Given the description of an element on the screen output the (x, y) to click on. 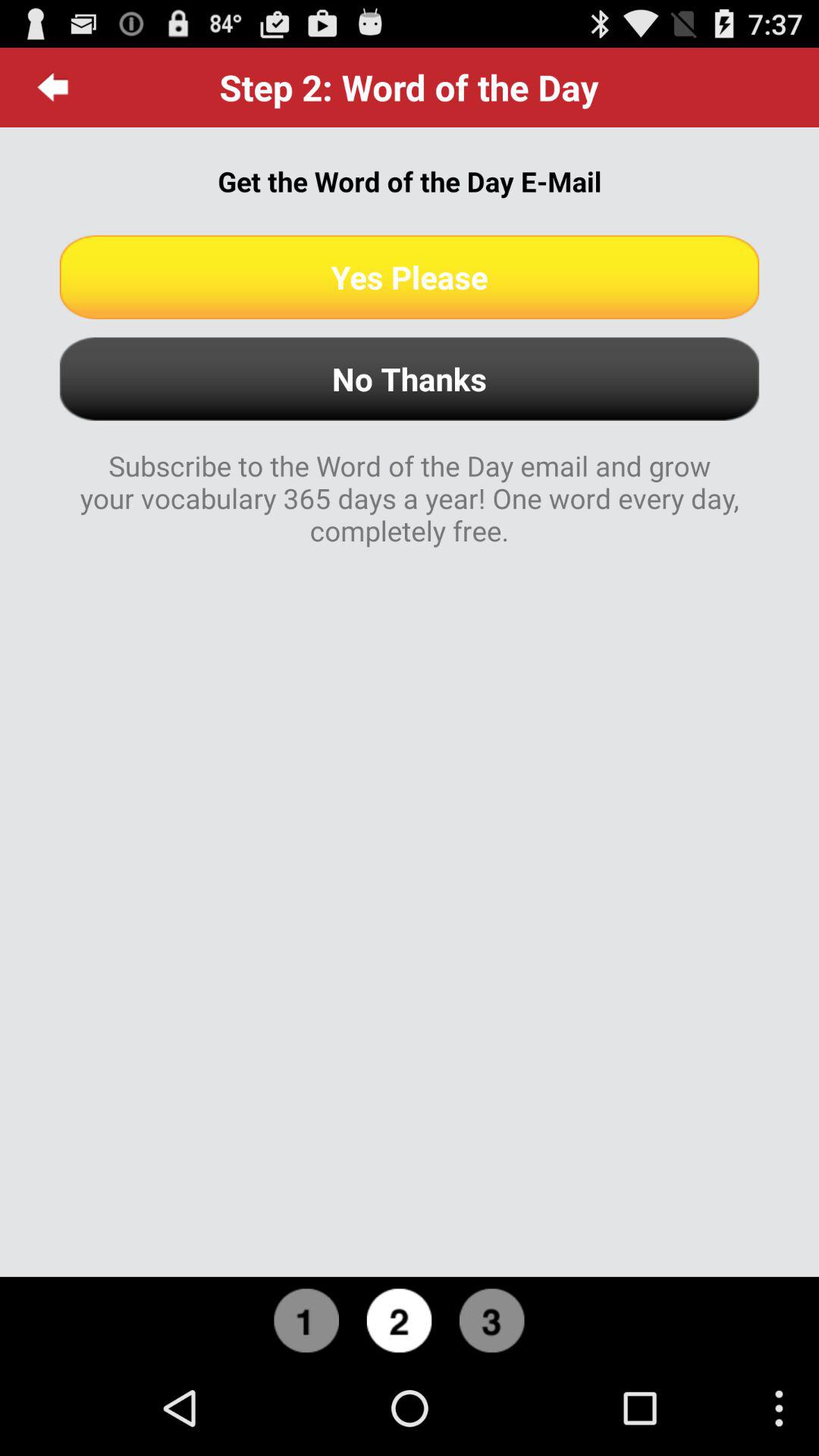
turn on the no thanks (409, 378)
